Given the description of an element on the screen output the (x, y) to click on. 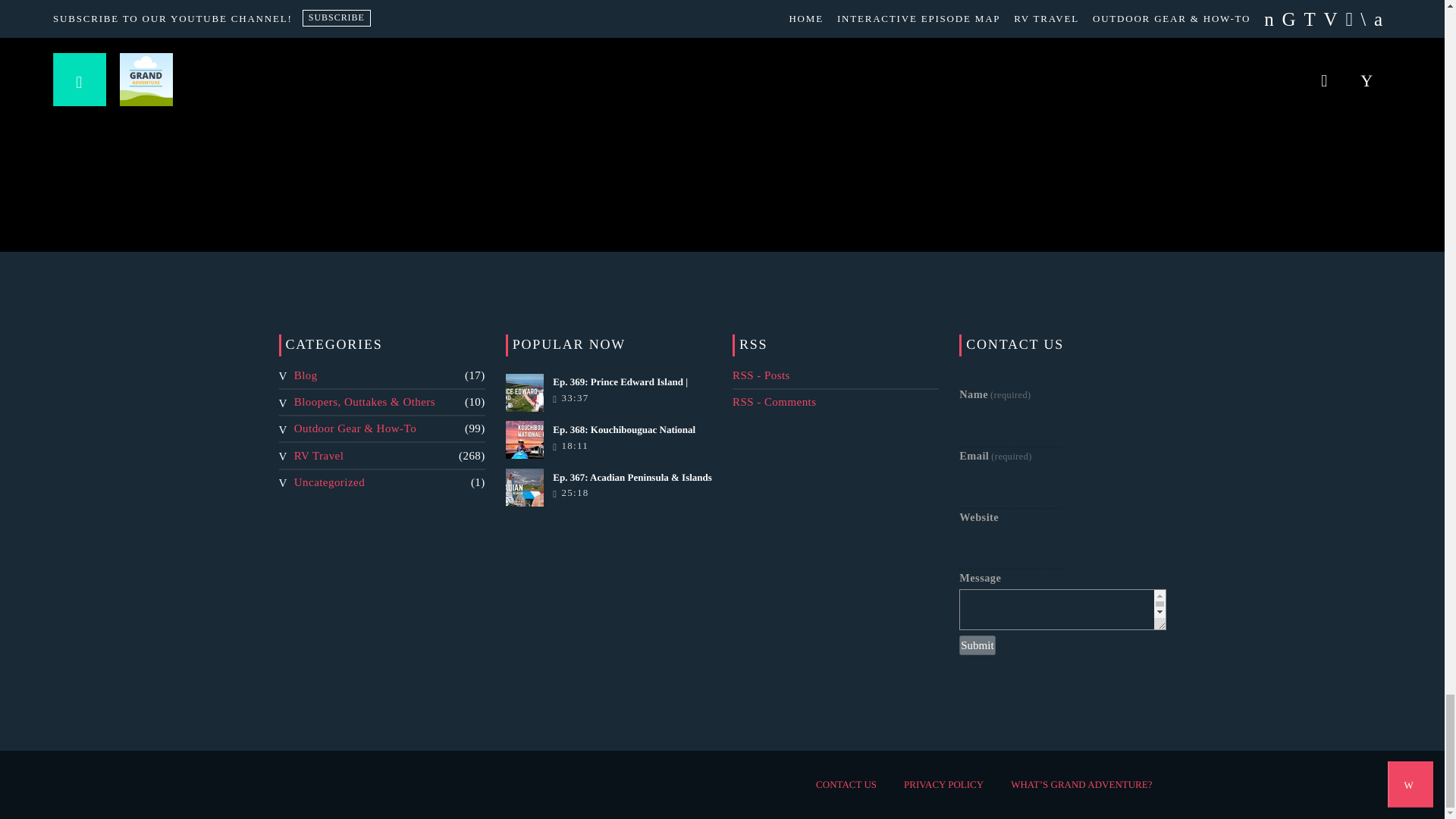
Subscribe to comments (774, 401)
Subscribe to posts (761, 375)
